Given the description of an element on the screen output the (x, y) to click on. 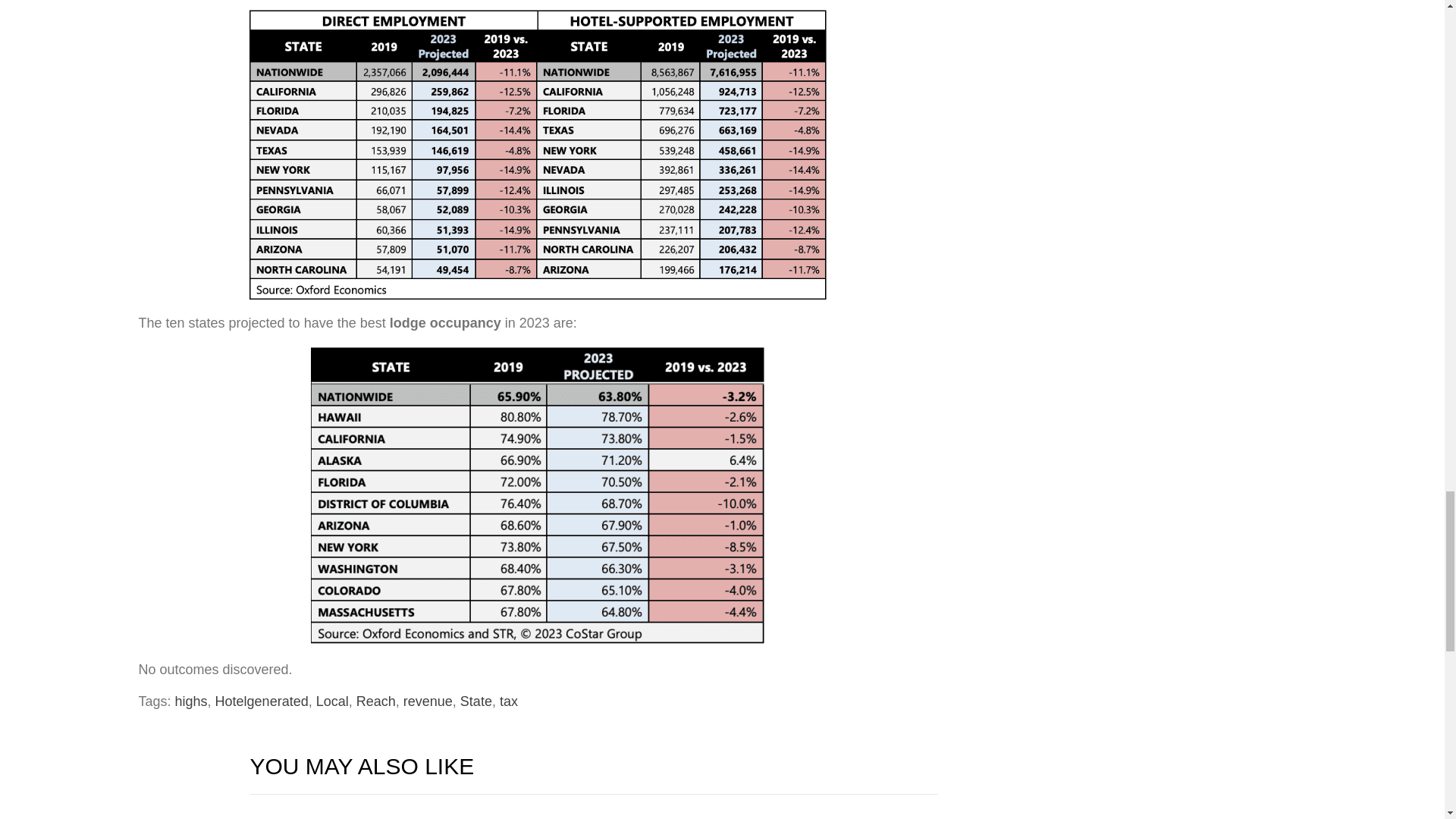
tax (508, 701)
State (476, 701)
Reach (376, 701)
revenue (427, 701)
Local (332, 701)
Hotelgenerated (261, 701)
highs (191, 701)
